Given the description of an element on the screen output the (x, y) to click on. 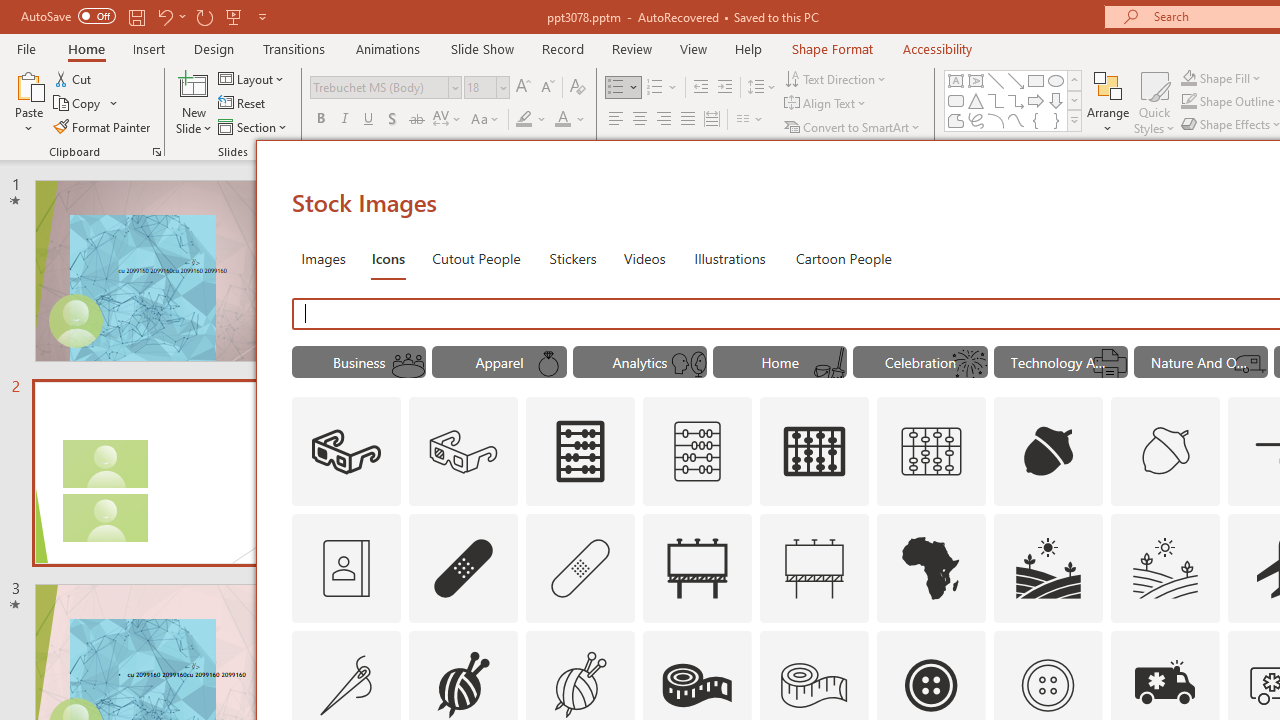
Connector: Elbow (995, 100)
AutomationID: Icons_AddressBook_RTL_M (346, 568)
Isosceles Triangle (975, 100)
Decrease Font Size (547, 87)
AutomationID: Icons_Acorn_M (1165, 452)
